Given the description of an element on the screen output the (x, y) to click on. 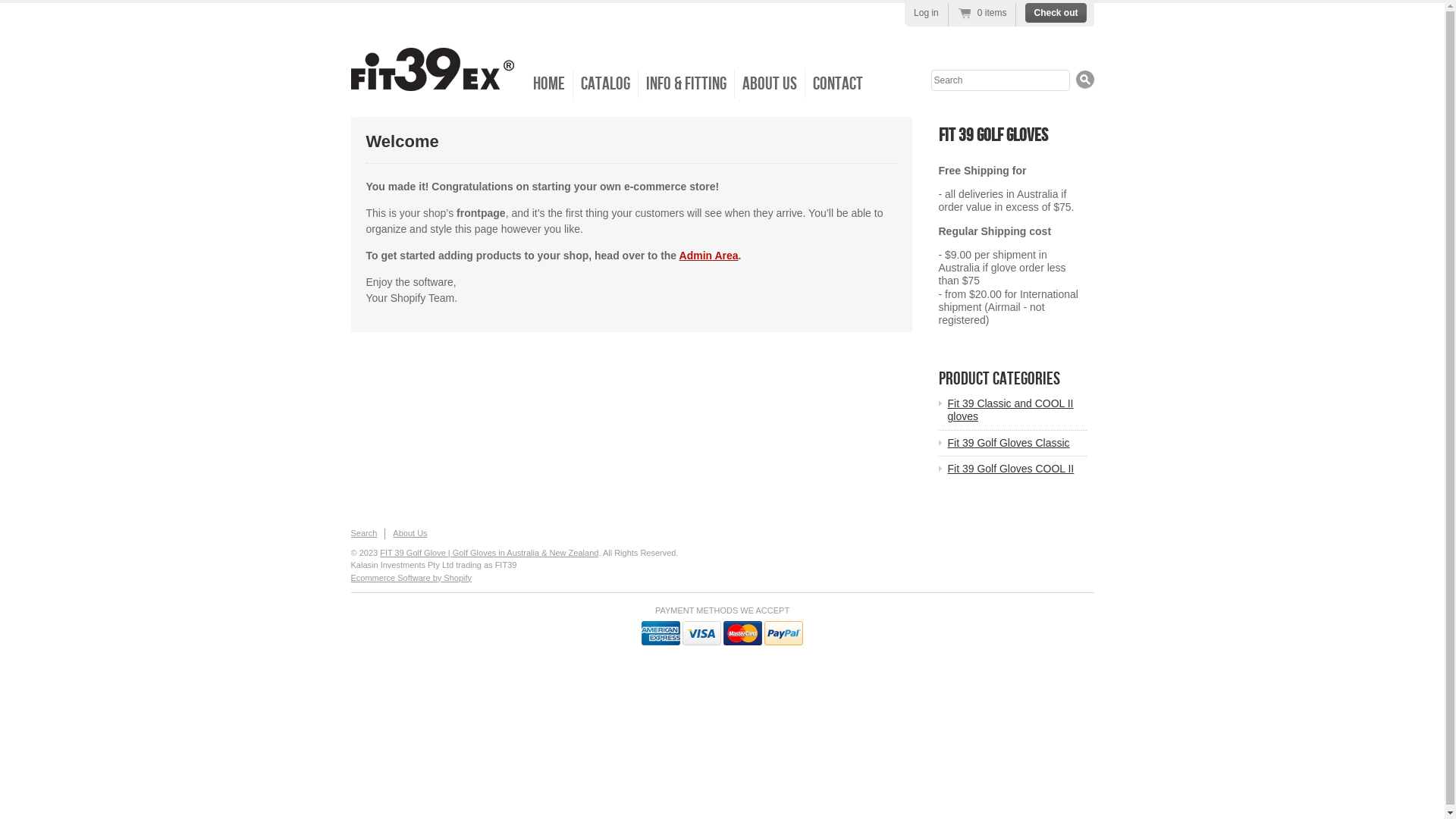
Check out Element type: text (1055, 12)
Home Element type: text (548, 83)
About Us Element type: text (769, 83)
Search Element type: text (1084, 78)
FIT 39 Golf Glove | Golf Gloves in Australia & New Zealand Element type: text (488, 552)
Product Categories Element type: text (999, 378)
Info & Fitting Element type: text (686, 83)
Log in Element type: text (925, 12)
Fit 39 Classic and COOL II gloves Element type: text (1016, 410)
About Us Element type: text (409, 532)
Search Element type: text (363, 532)
Home Element type: hover (431, 86)
Fit 39 Golf Gloves Classic Element type: text (1016, 442)
0 items Element type: text (982, 12)
Catalog Element type: text (605, 83)
Contact Element type: text (837, 83)
Fit 39 Golf Gloves COOL II Element type: text (1016, 468)
Ecommerce Software by Shopify Element type: text (410, 577)
Admin Area Element type: text (708, 255)
